Given the description of an element on the screen output the (x, y) to click on. 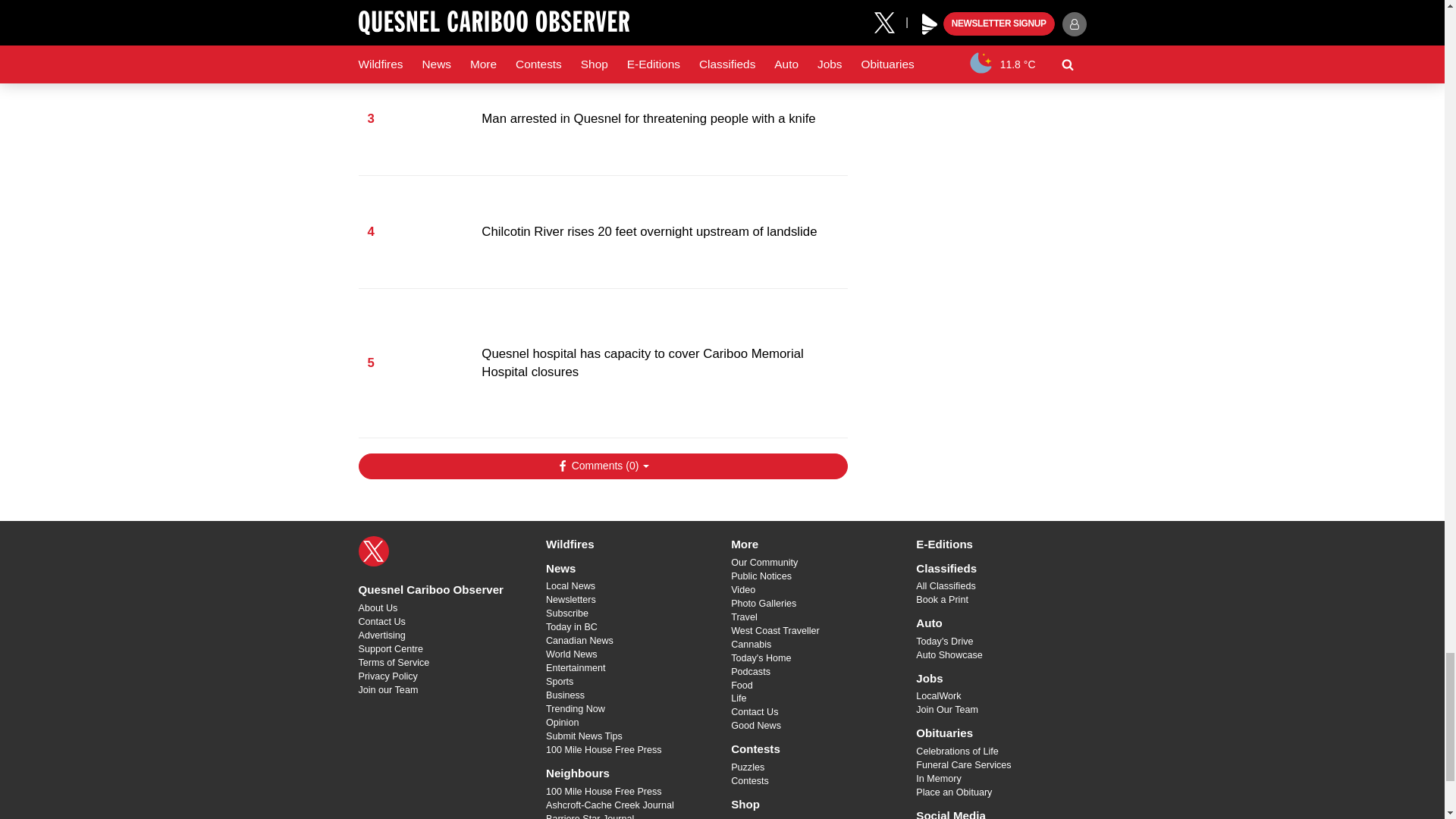
Show Comments (602, 466)
X (373, 551)
